Given the description of an element on the screen output the (x, y) to click on. 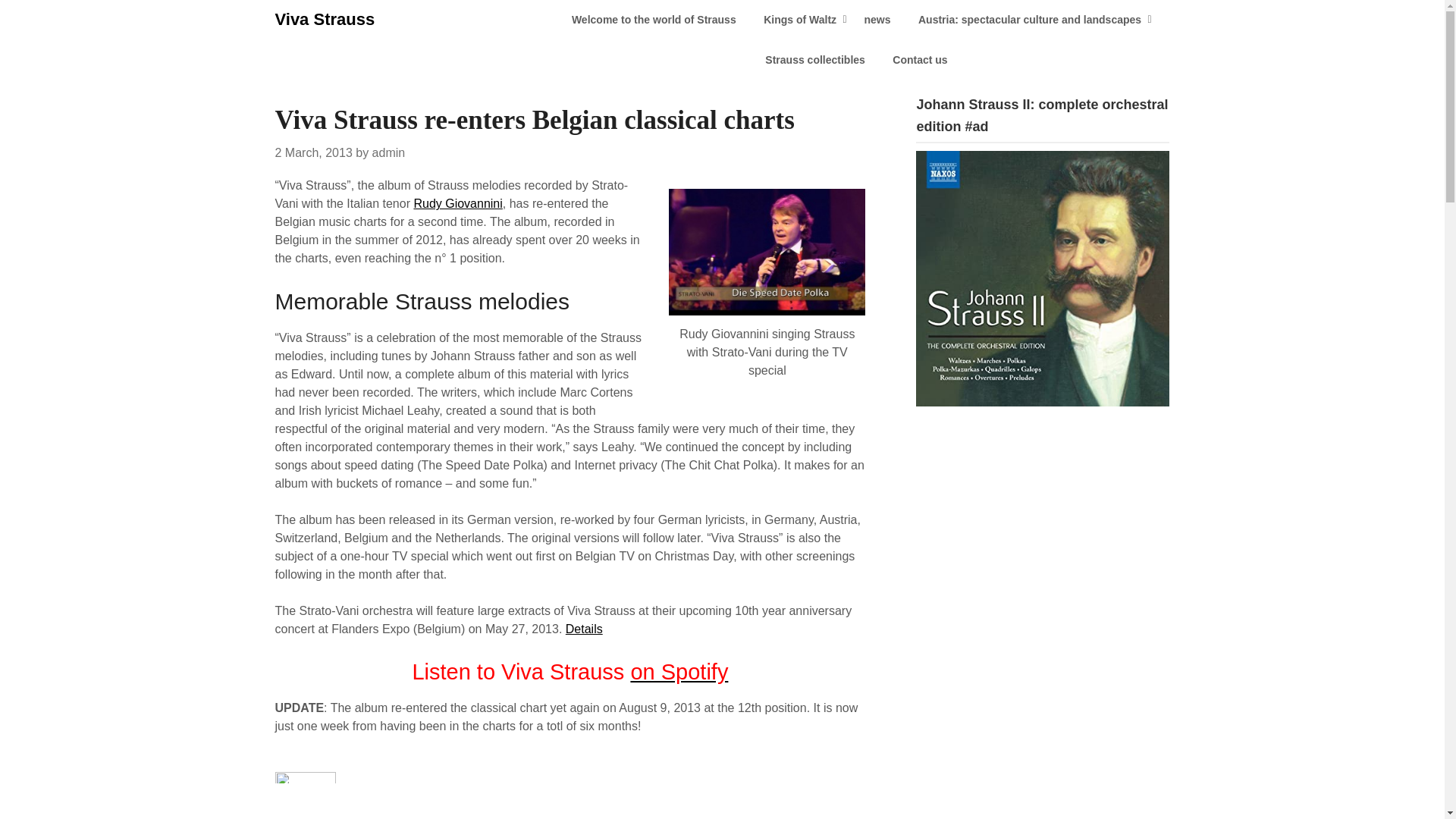
on Spotify (679, 671)
WebAnalytics (304, 792)
Strauss collectibles (814, 60)
2 March, 2013 (313, 151)
Rudy Giovannini (457, 203)
Details (584, 628)
Internet Audience (304, 777)
Contact us (919, 60)
Starto-Vani concert (584, 628)
Viva Struass streaming on Spotify (679, 671)
